Given the description of an element on the screen output the (x, y) to click on. 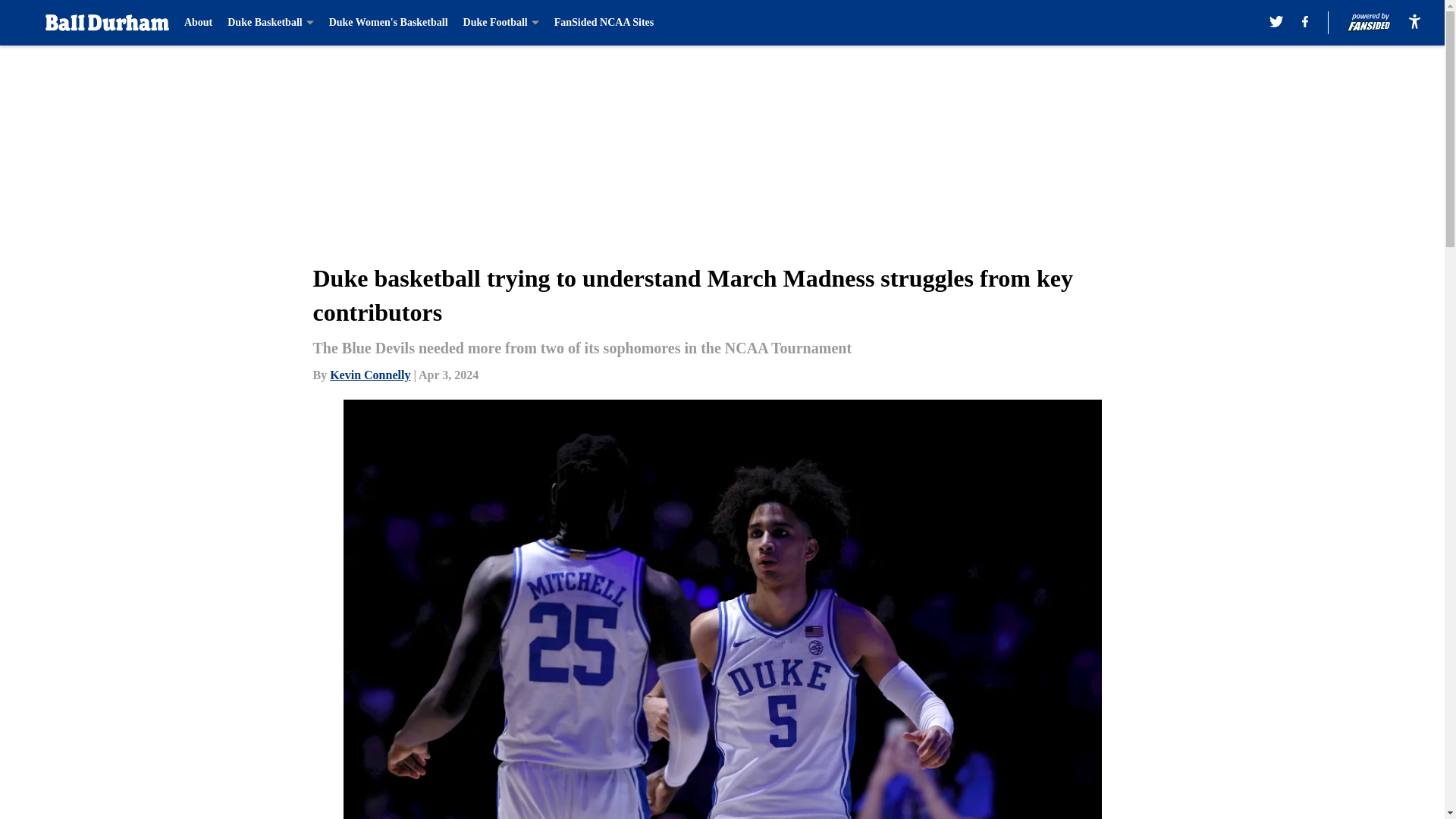
FanSided NCAA Sites (603, 22)
Kevin Connelly (370, 374)
About (198, 22)
Duke Women's Basketball (388, 22)
